Given the description of an element on the screen output the (x, y) to click on. 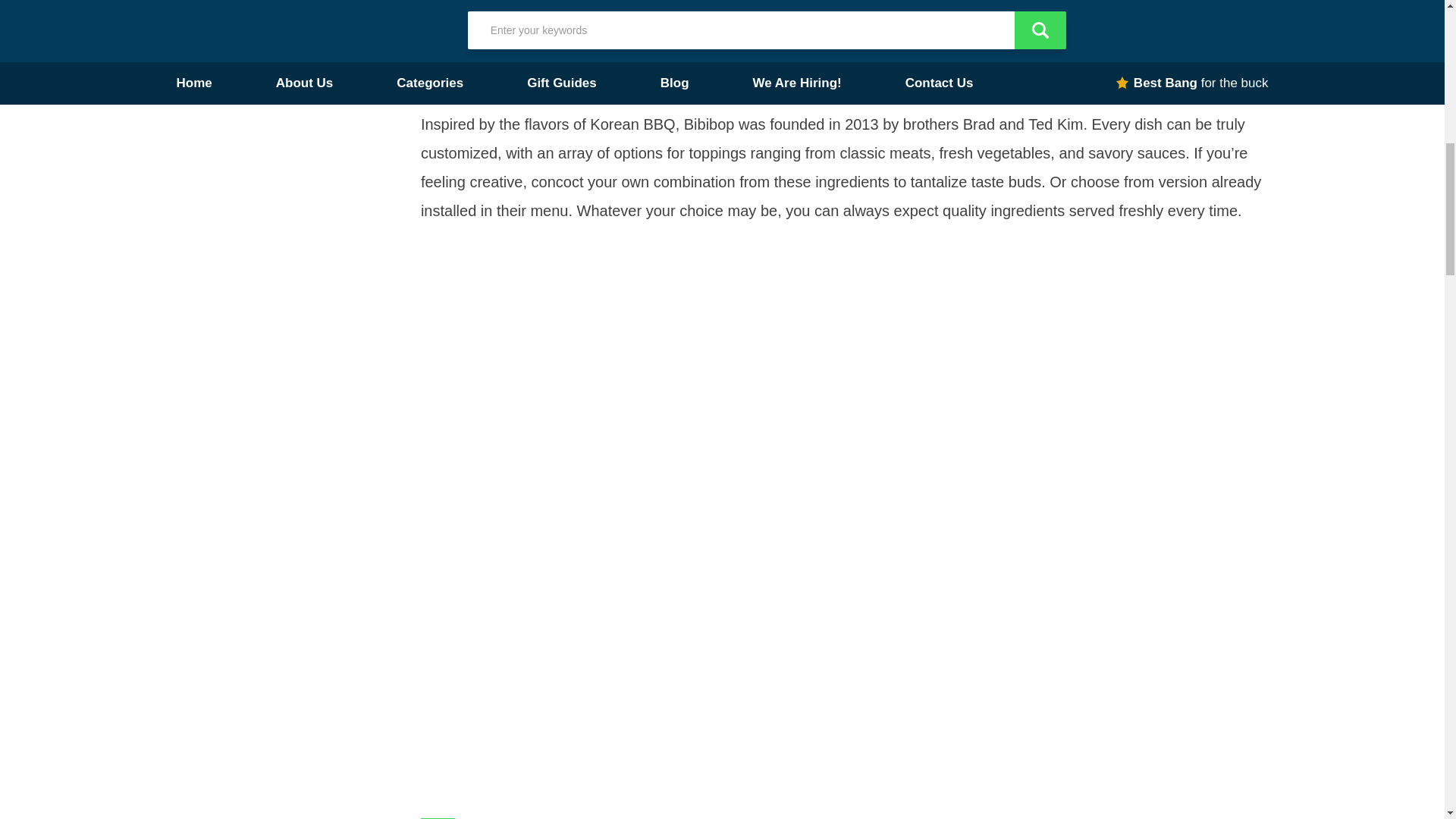
Special Catering Menu (245, 23)
Best New Restaurant Chains (263, 52)
Beloved Eatery (221, 1)
